Given the description of an element on the screen output the (x, y) to click on. 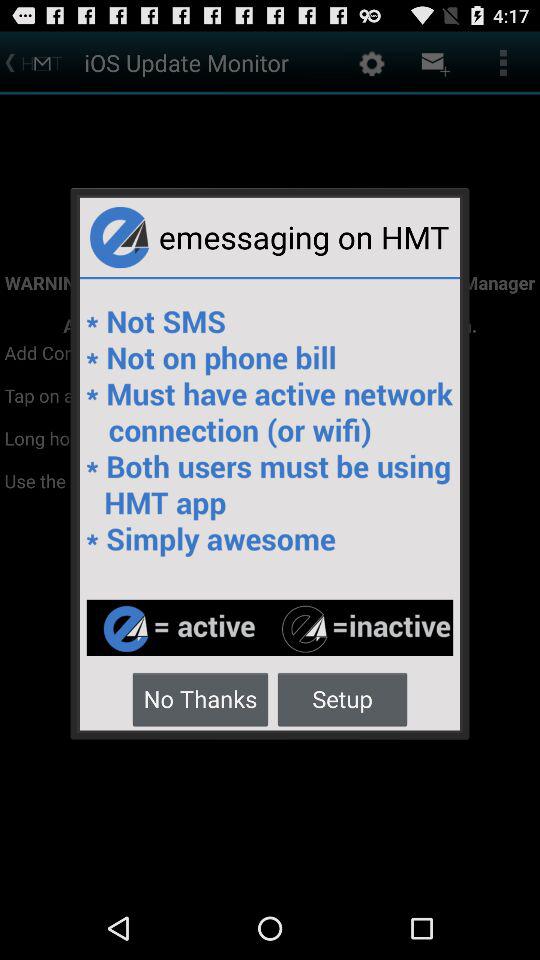
turn on the item next to no thanks icon (342, 698)
